Given the description of an element on the screen output the (x, y) to click on. 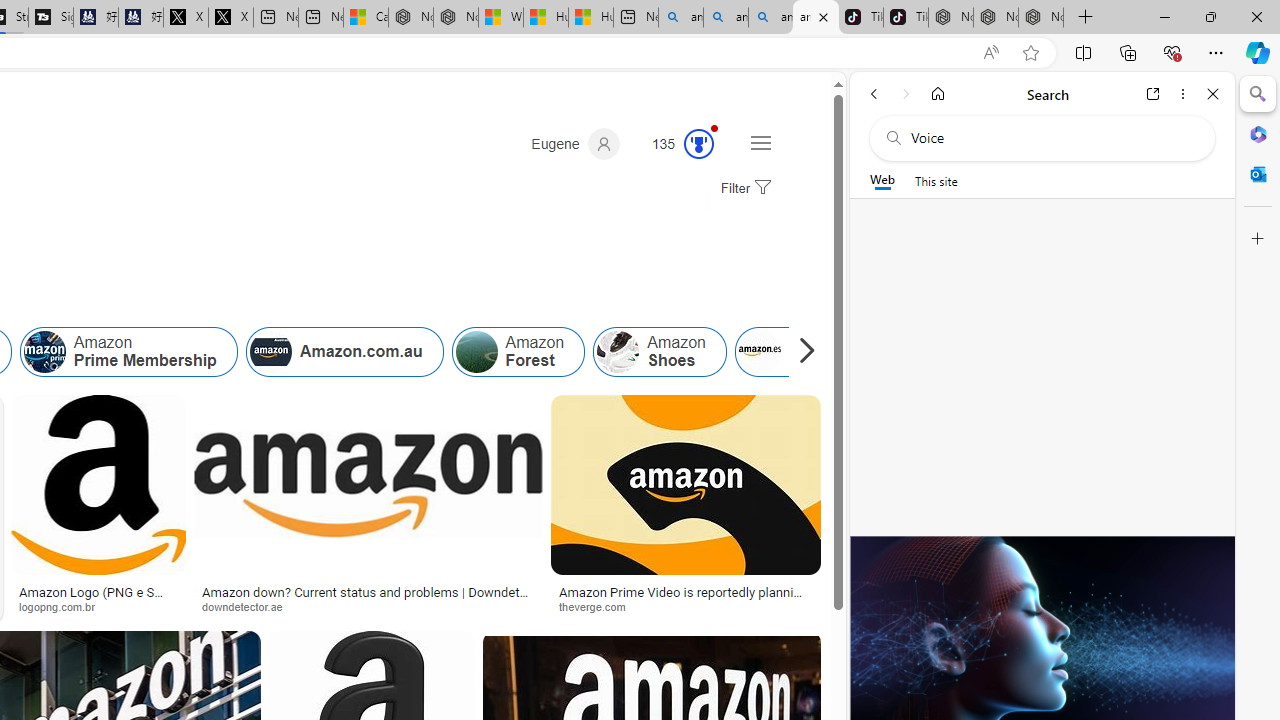
Image result for amazon (685, 485)
Web scope (882, 180)
Amazon.com.au (343, 351)
More options (1182, 93)
Huge shark washes ashore at New York City beach | Watch (591, 17)
Forward (906, 93)
Image result for amazon (685, 485)
Amazon Logo (PNG e SVG) Download Vetorial Transparente (98, 598)
Microsoft Rewards 135 (675, 143)
amazon - Search Images (815, 17)
logopng.com.br (98, 606)
